Given the description of an element on the screen output the (x, y) to click on. 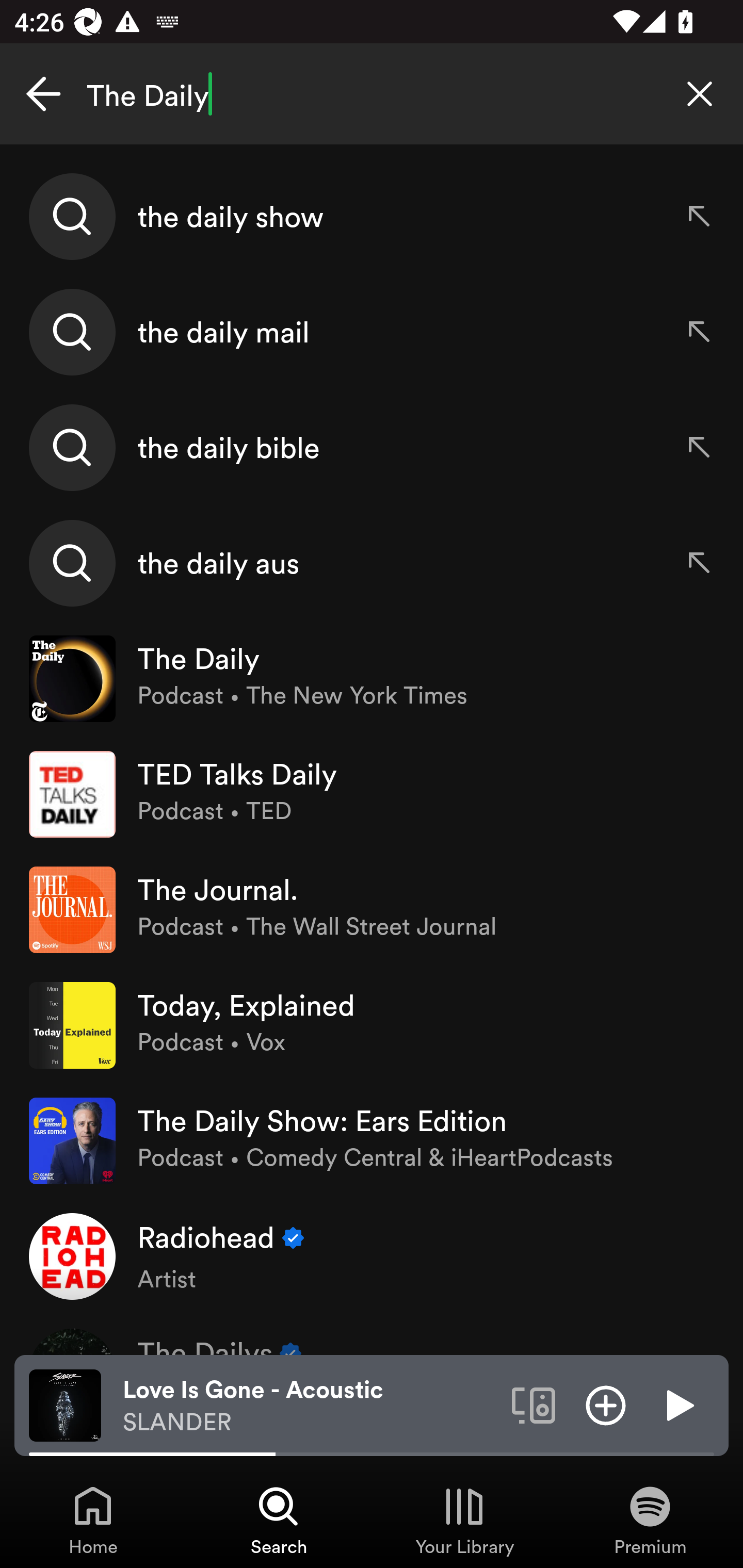
The Daily (371, 93)
Cancel (43, 93)
Clear search query (699, 93)
the daily show (371, 216)
the daily mail (371, 332)
the daily bible (371, 447)
the daily aus (371, 562)
The Daily Podcast • The New York Times (371, 678)
TED Talks Daily Podcast • TED (371, 793)
The Journal. Podcast • The Wall Street Journal (371, 909)
Today, Explained Podcast • Vox (371, 1025)
Radiohead Verified Artist (371, 1255)
Love Is Gone - Acoustic SLANDER (309, 1405)
The cover art of the currently playing track (64, 1404)
Connect to a device. Opens the devices menu (533, 1404)
Add item (605, 1404)
Play (677, 1404)
Home, Tab 1 of 4 Home Home (92, 1519)
Search, Tab 2 of 4 Search Search (278, 1519)
Your Library, Tab 3 of 4 Your Library Your Library (464, 1519)
Premium, Tab 4 of 4 Premium Premium (650, 1519)
